Given the description of an element on the screen output the (x, y) to click on. 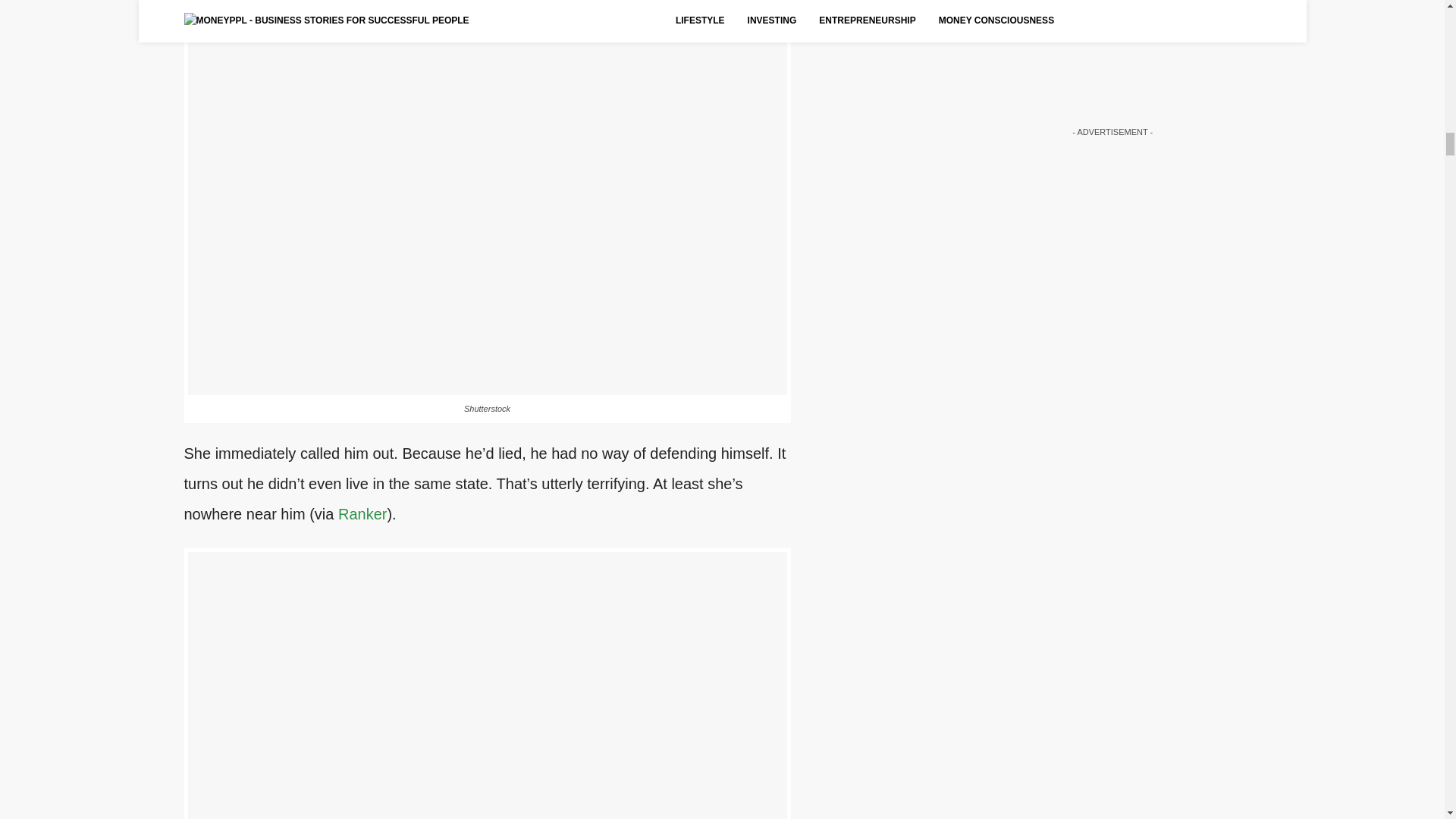
Ranker (362, 514)
